Given the description of an element on the screen output the (x, y) to click on. 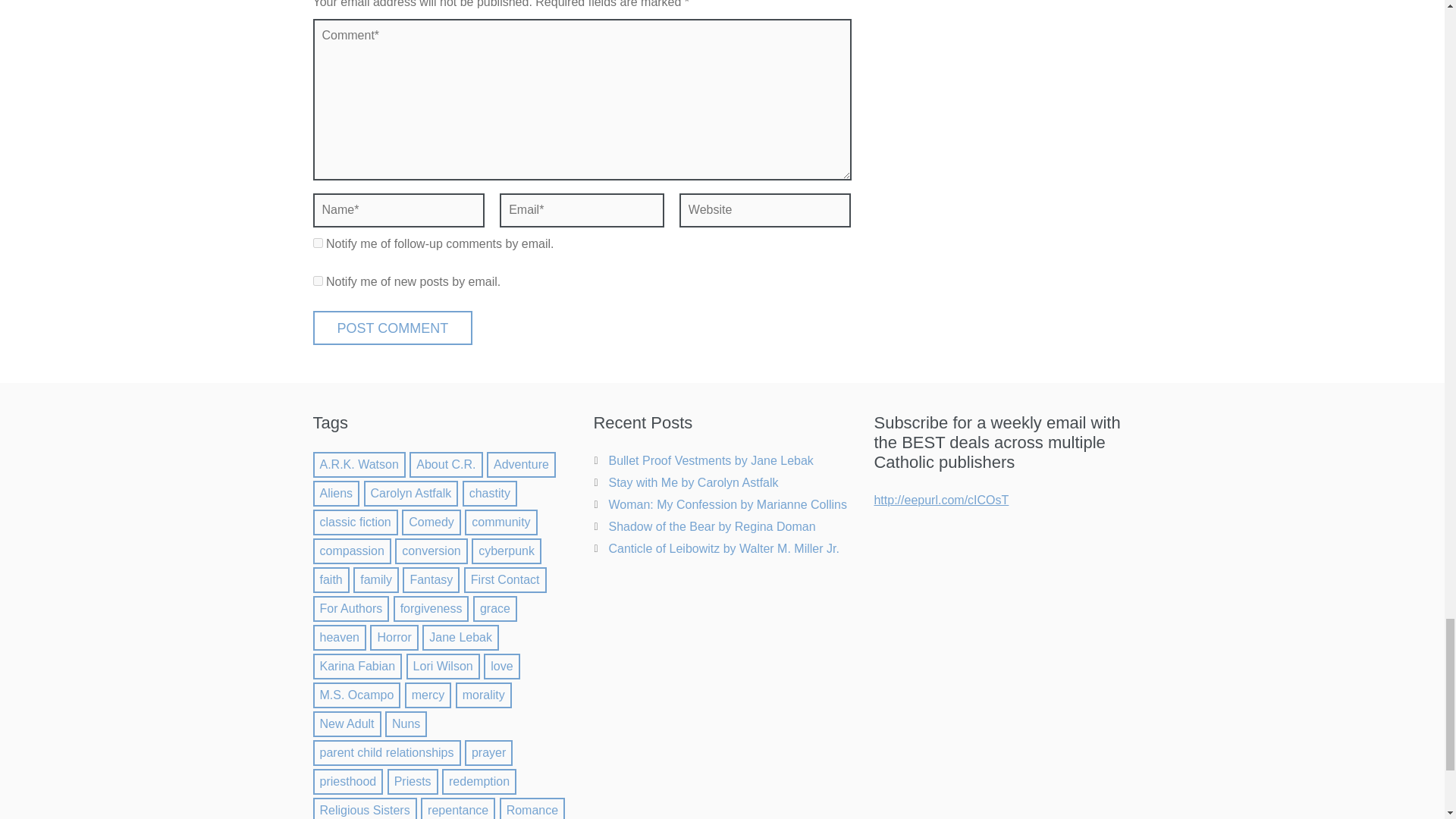
Post Comment (392, 327)
subscribe (317, 280)
subscribe (317, 243)
